Given the description of an element on the screen output the (x, y) to click on. 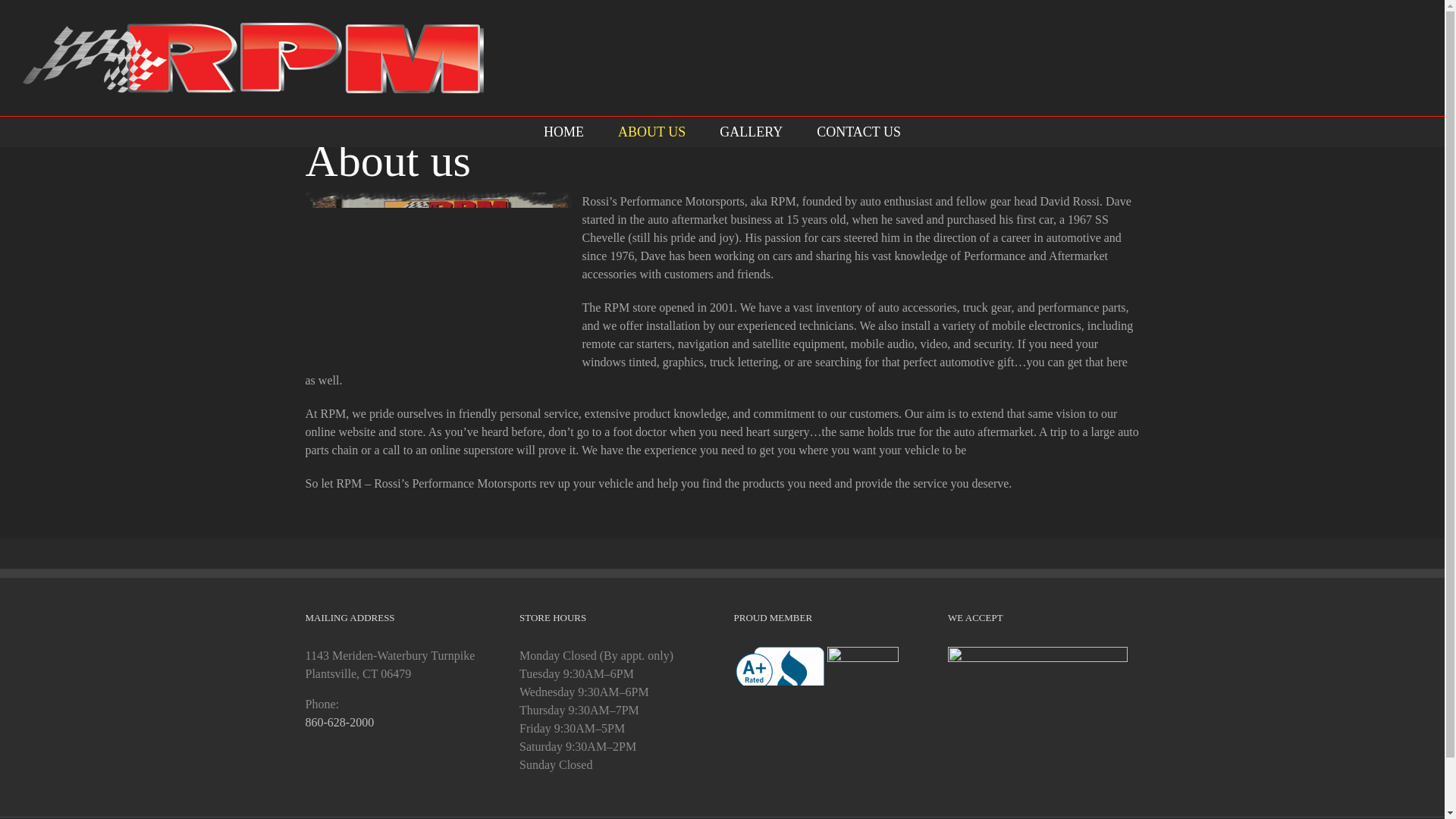
CONTACT US (858, 132)
860-628-2000 (339, 721)
GALLERY (751, 132)
ABOUT US (651, 132)
HOME (563, 132)
